Given the description of an element on the screen output the (x, y) to click on. 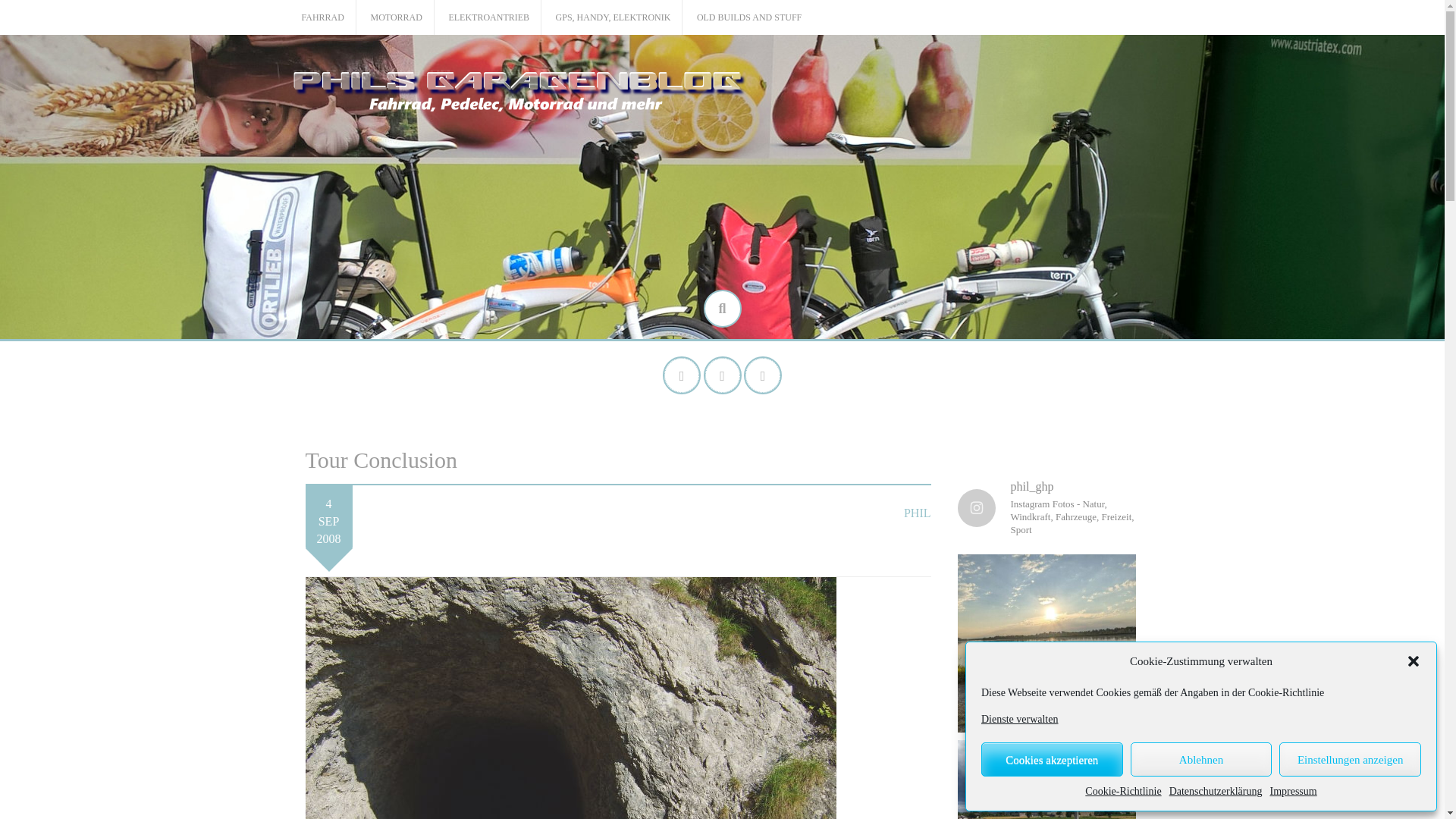
Cookies akzeptieren (1051, 759)
Cookie-Richtlinie (1122, 791)
OLD BUILDS AND STUFF (749, 17)
MOTORRAD (395, 17)
Dienste verwalten (1019, 719)
GPS, HANDY, ELEKTRONIK (613, 17)
Einstellungen anzeigen (1350, 759)
Impressum (1292, 791)
ELEKTROANTRIEB (488, 17)
FAHRRAD (322, 17)
Ablehnen (1201, 759)
